Given the description of an element on the screen output the (x, y) to click on. 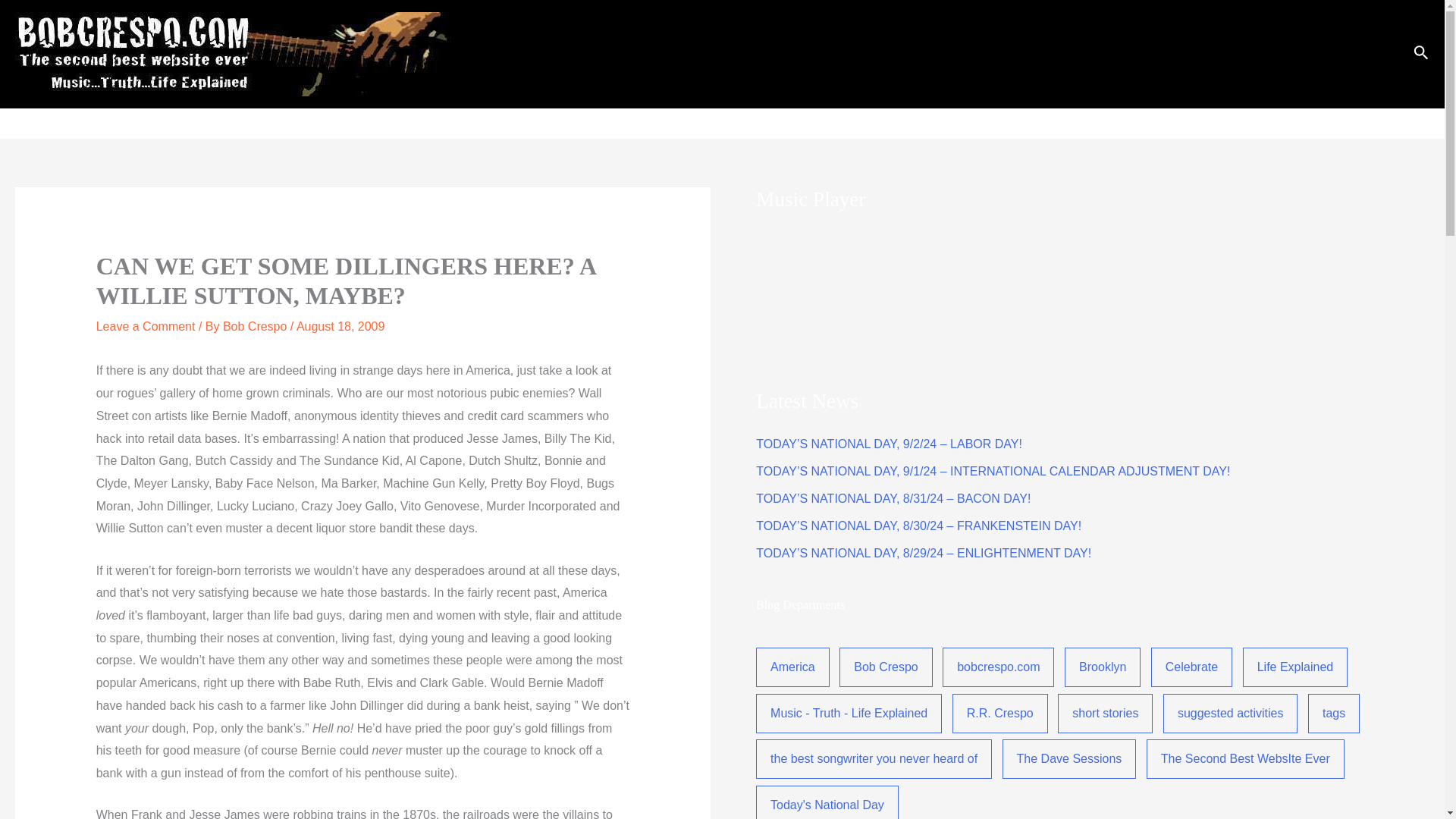
Bob Crespo (255, 326)
Home (862, 123)
Brooklyn (1102, 667)
Contact (1380, 123)
bobcrespo.com (998, 667)
Celebrate (1191, 667)
Music - Truth - Life Explained (848, 713)
Blog Departments (992, 123)
Bob Crespo (885, 667)
Life Explained (1295, 667)
